Given the description of an element on the screen output the (x, y) to click on. 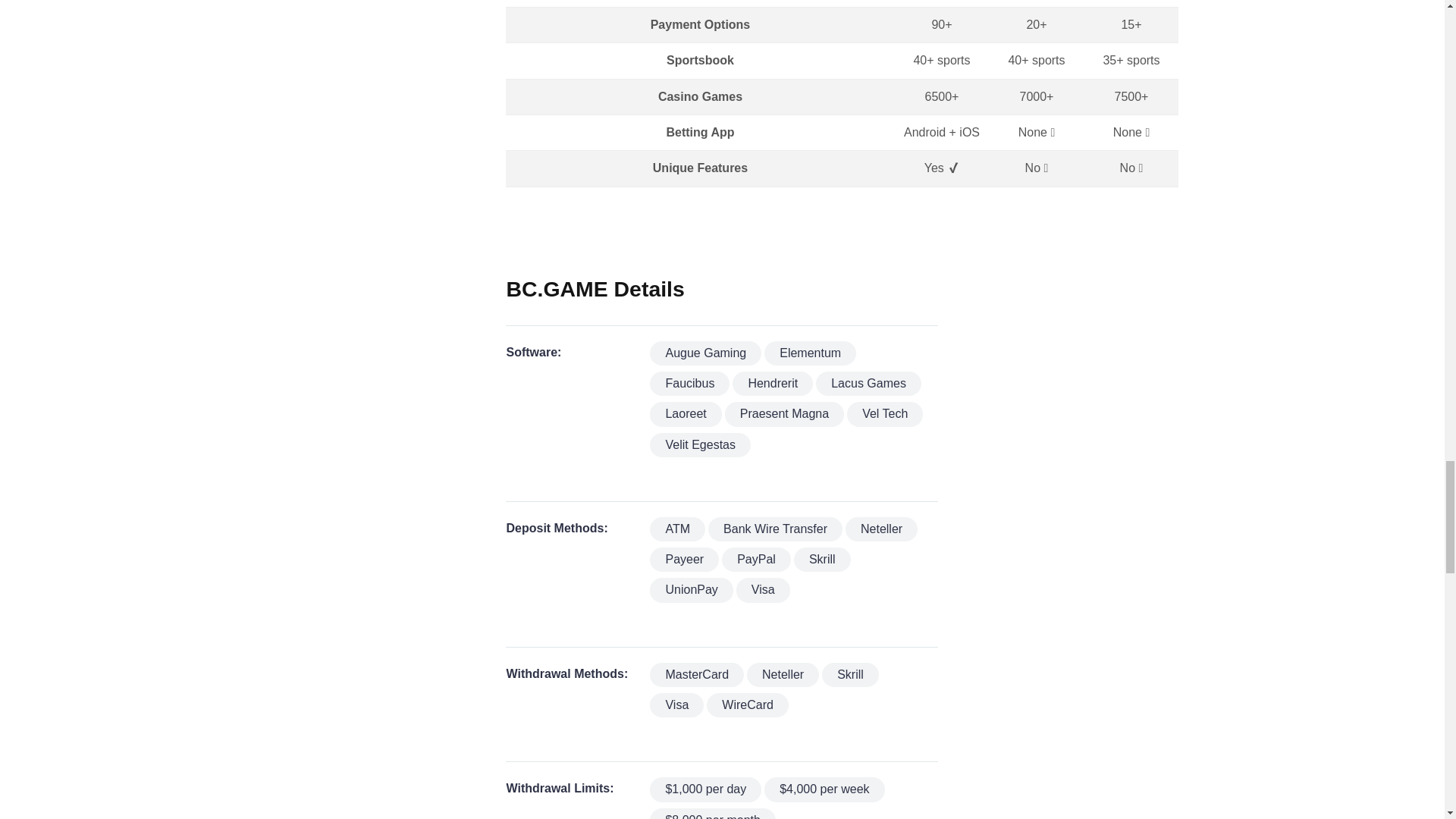
Augue Gaming (705, 353)
Elementum (810, 353)
Augue Gaming (705, 353)
ATM (676, 528)
Hendrerit (772, 383)
Hendrerit (772, 383)
Elementum (810, 353)
Velit Egestas (700, 445)
Vel Tech (885, 413)
Faucibus (689, 383)
